Given the description of an element on the screen output the (x, y) to click on. 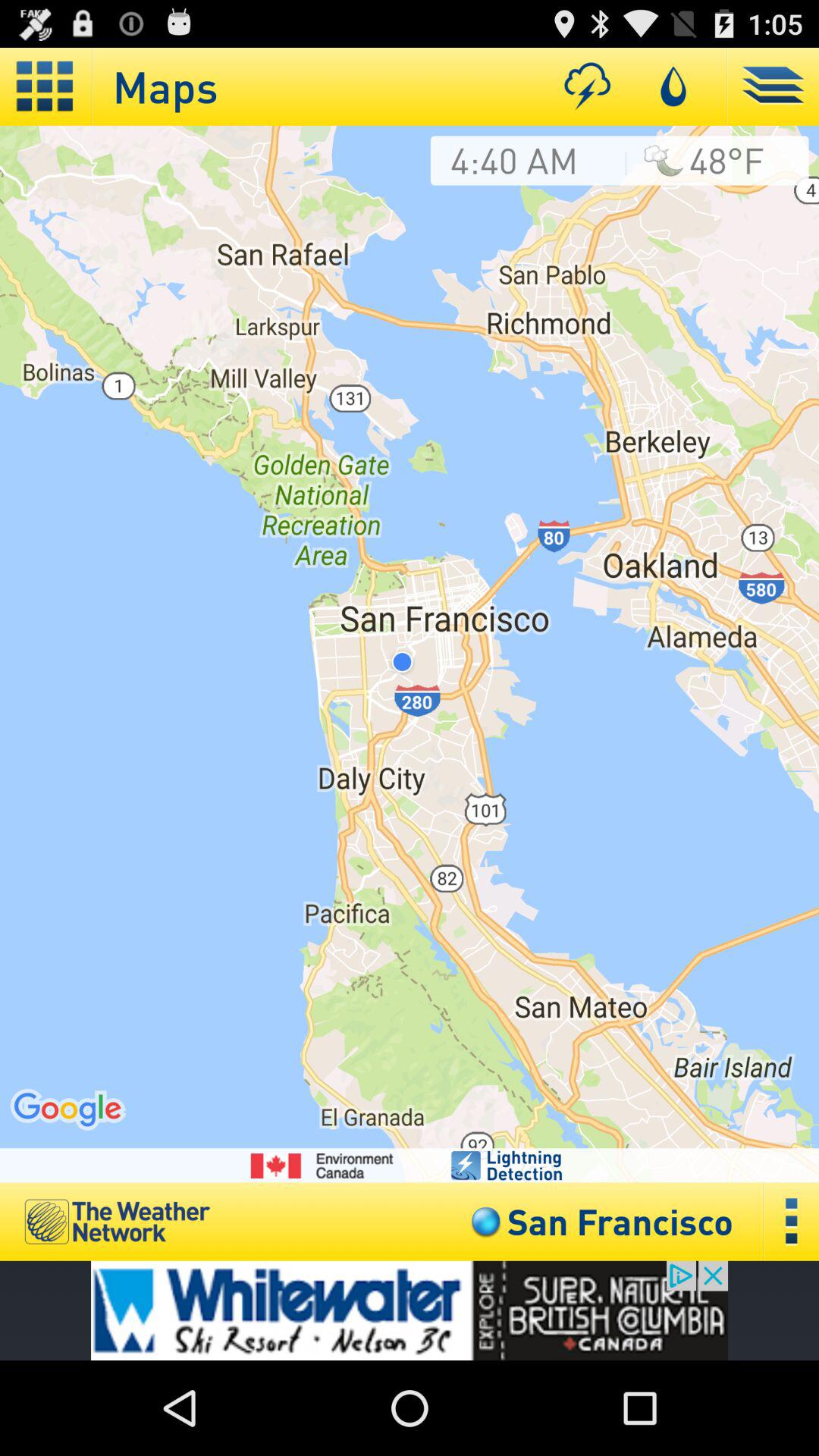
advertisement (409, 1310)
